Given the description of an element on the screen output the (x, y) to click on. 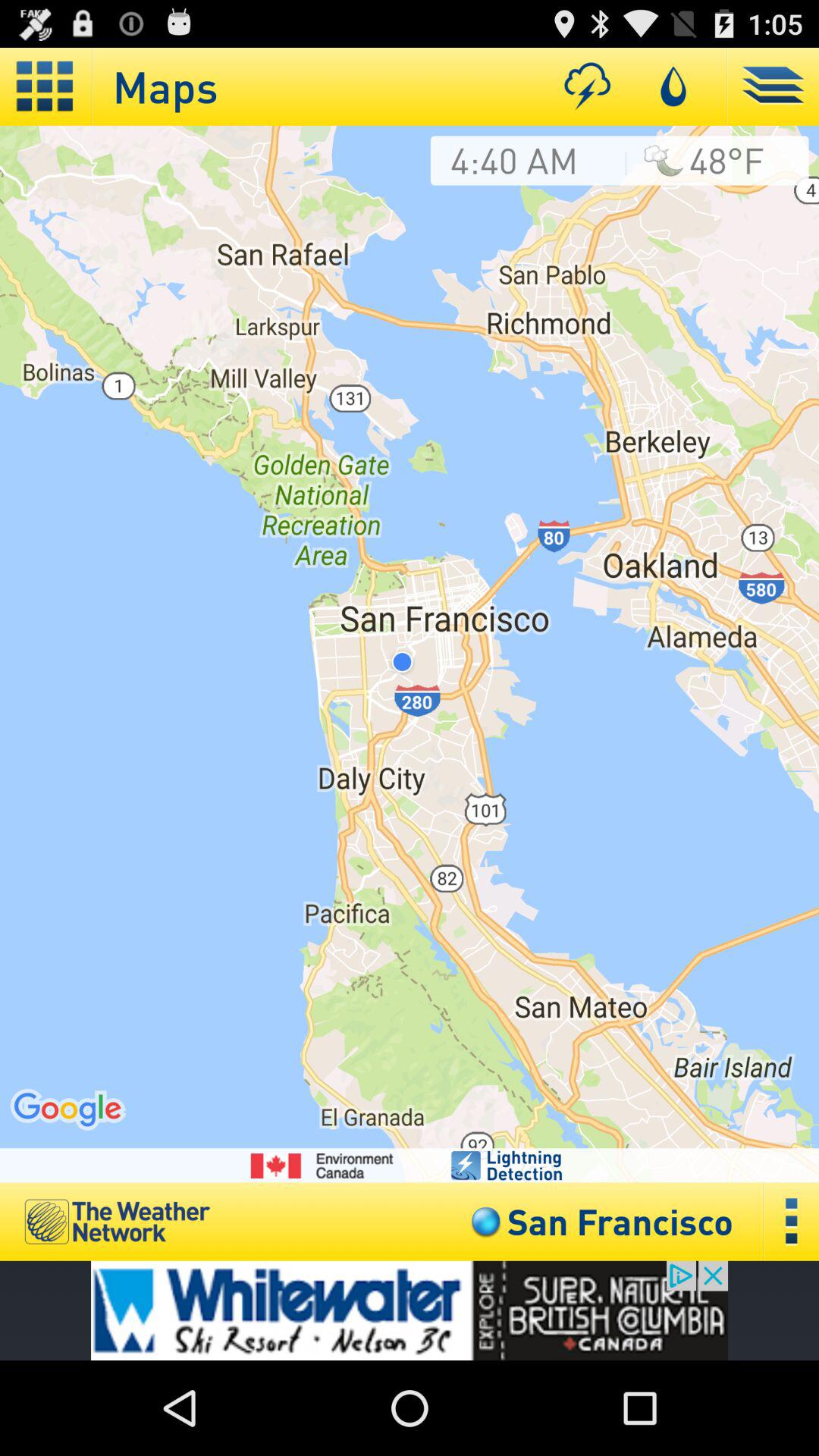
advertisement (409, 1310)
